Given the description of an element on the screen output the (x, y) to click on. 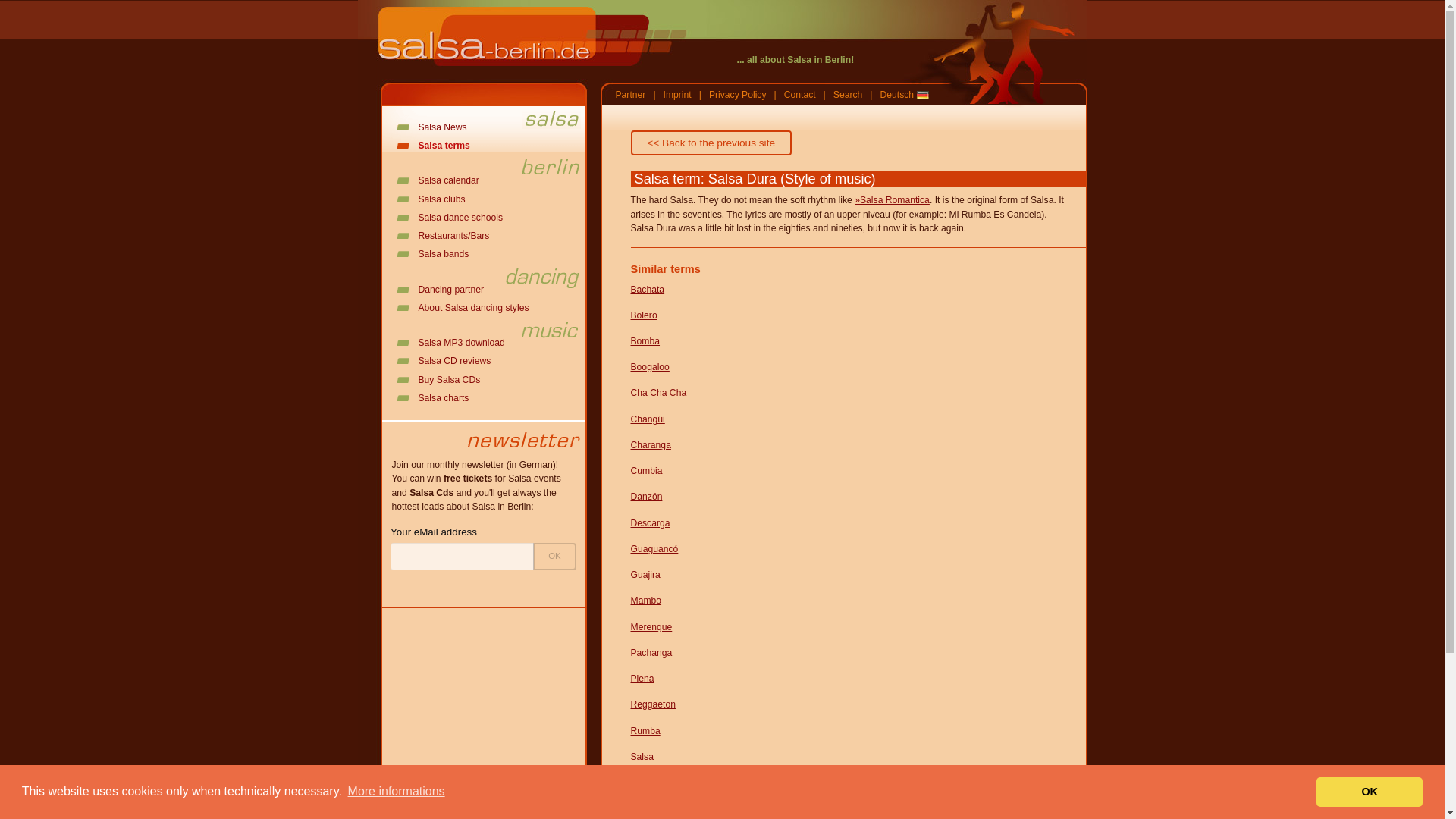
Merengue (651, 626)
Dancing partner (440, 289)
Our partner sites at the WWW (630, 94)
OK (554, 556)
Mambo (646, 600)
Salsa CD reviews (444, 360)
Deutsch (903, 94)
This WEB-site in German language (903, 94)
The actual Salsa Charts - presented by DJ El Rumbero (432, 398)
Some important salsa terms you should know (433, 145)
